Given the description of an element on the screen output the (x, y) to click on. 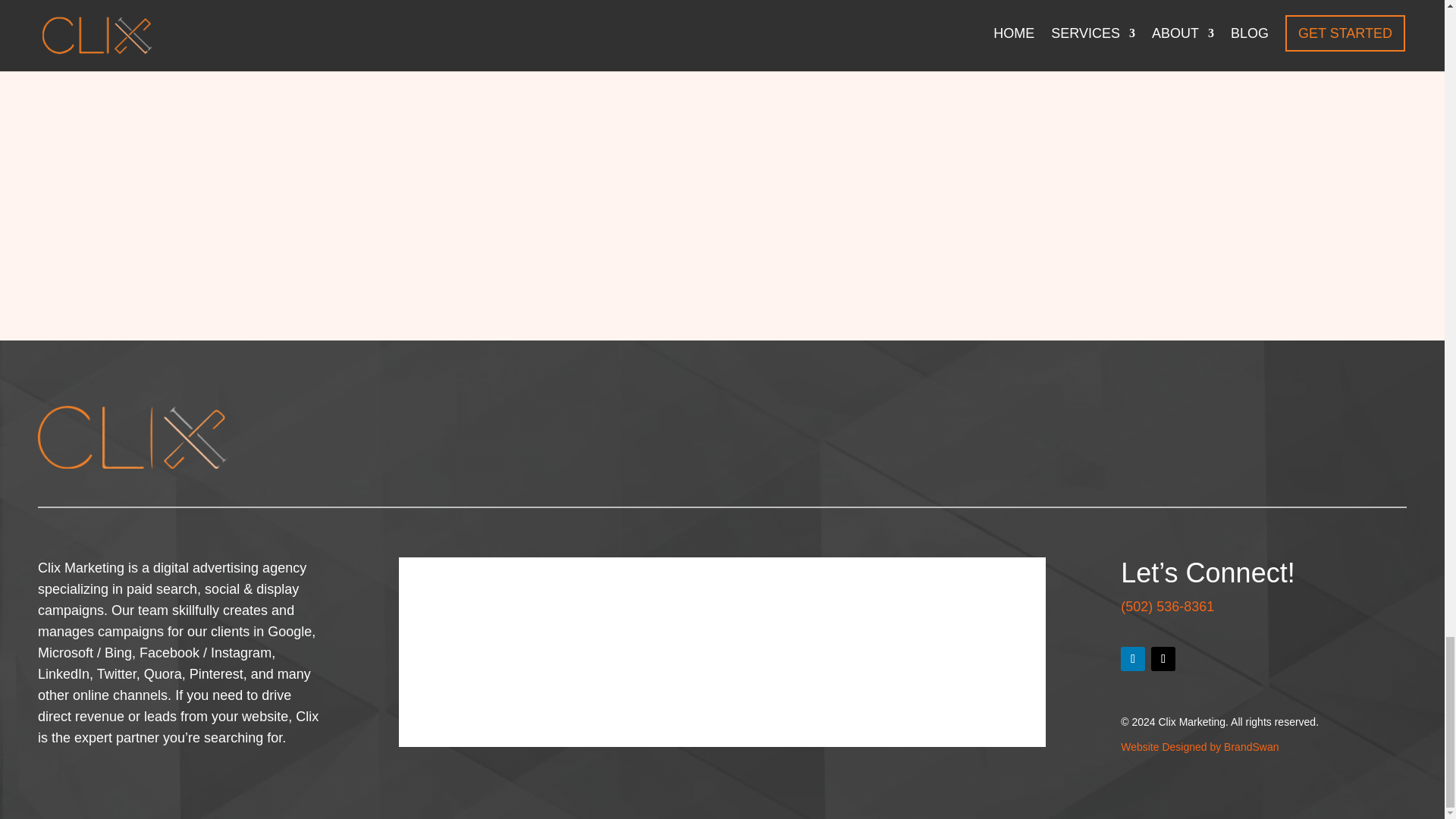
Delaware Web Design by BrandSwan (1199, 746)
Form 0 (721, 652)
Follow on X (1162, 658)
Follow on LinkedIn (1132, 658)
